Given the description of an element on the screen output the (x, y) to click on. 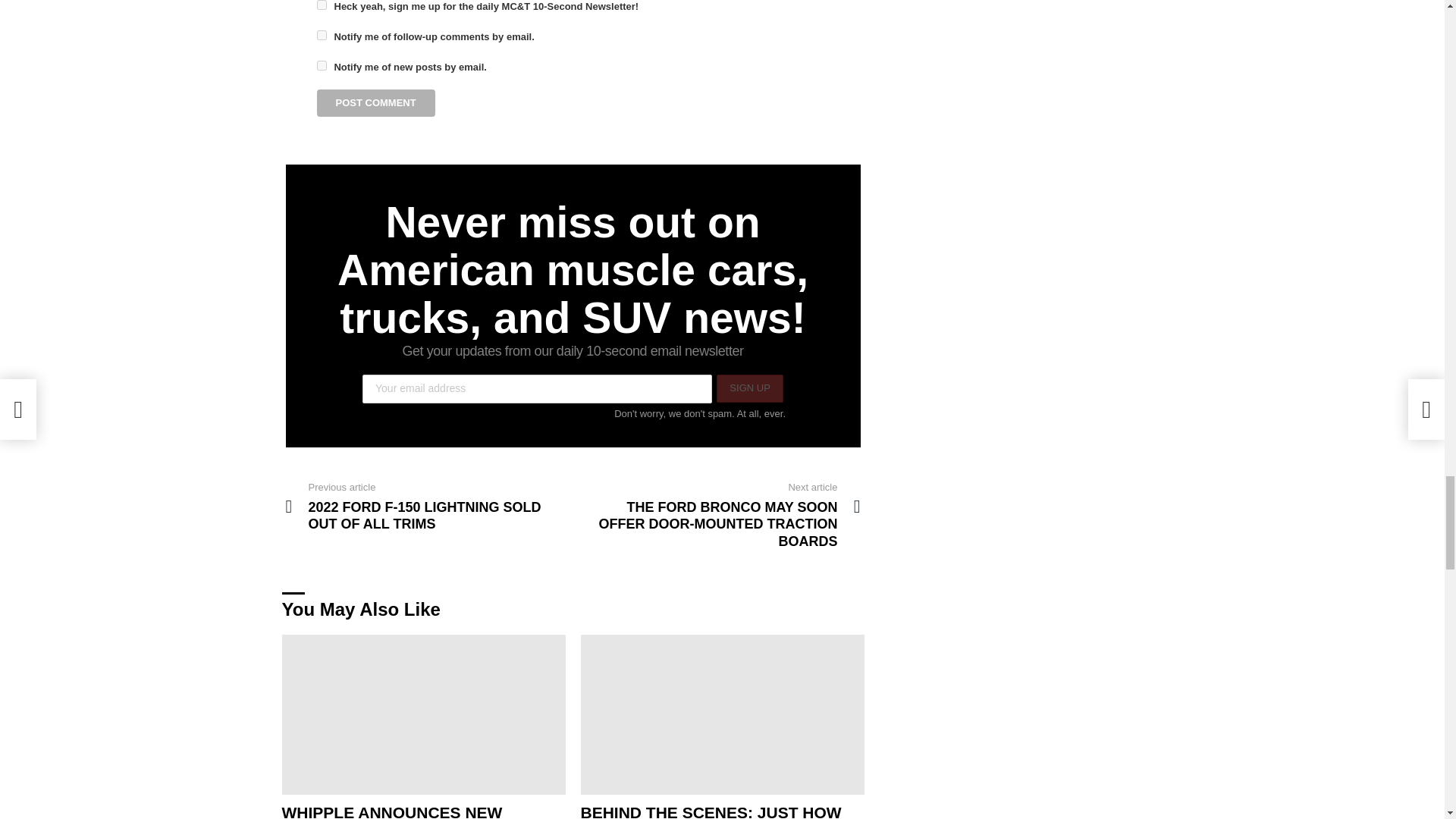
Sign up (749, 388)
Post Comment (376, 103)
subscribe (321, 35)
subscribe (321, 65)
1 (321, 4)
